Given the description of an element on the screen output the (x, y) to click on. 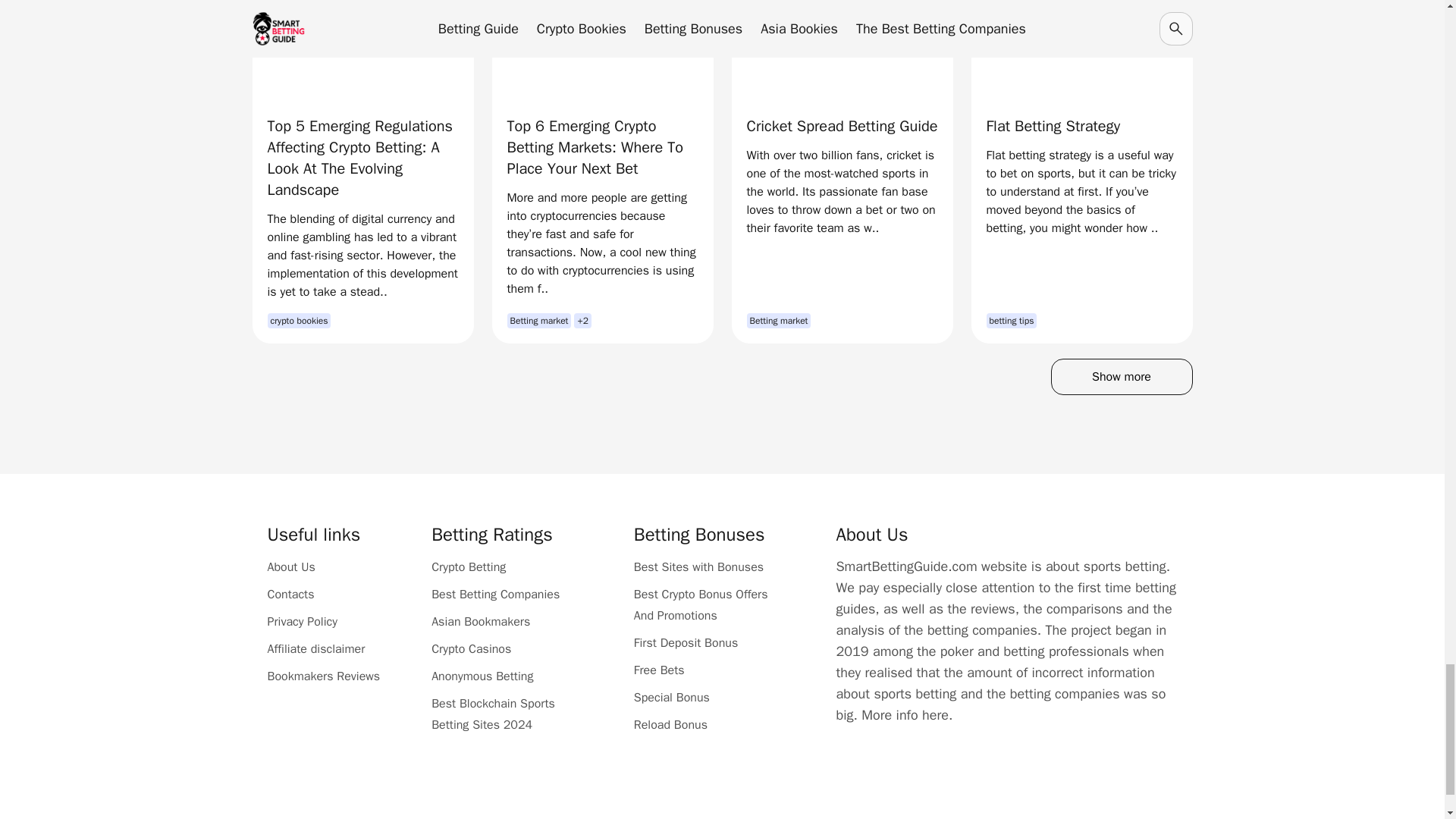
Affpapa (776, 795)
APCW (885, 795)
GPWA (667, 795)
